Given the description of an element on the screen output the (x, y) to click on. 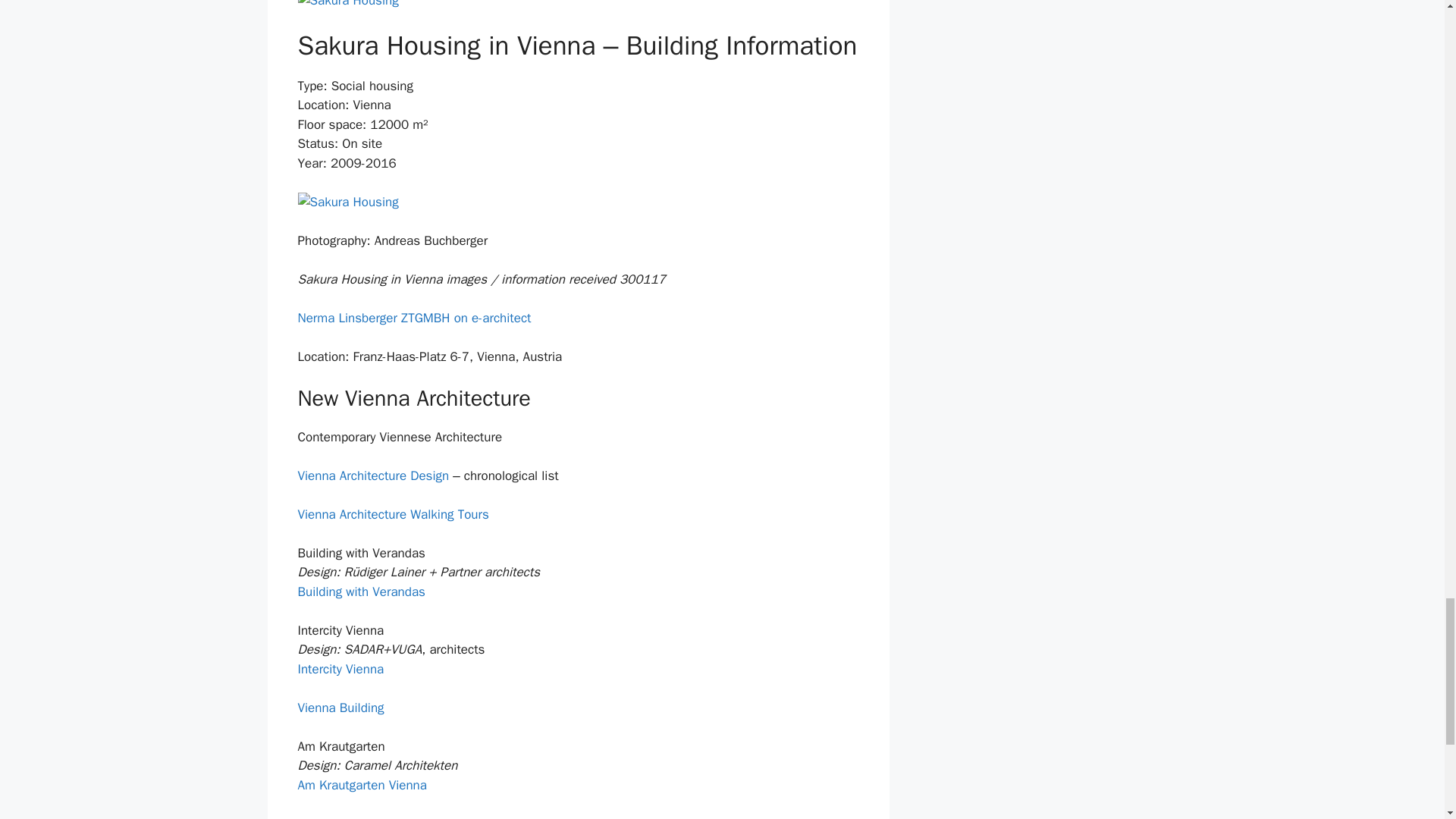
Vienna Architecture Design (372, 475)
Building with Verandas (361, 591)
Vienna Architecture Walking Tours (392, 514)
Nerma Linsberger ZTGMBH on e-architect (414, 317)
